Given the description of an element on the screen output the (x, y) to click on. 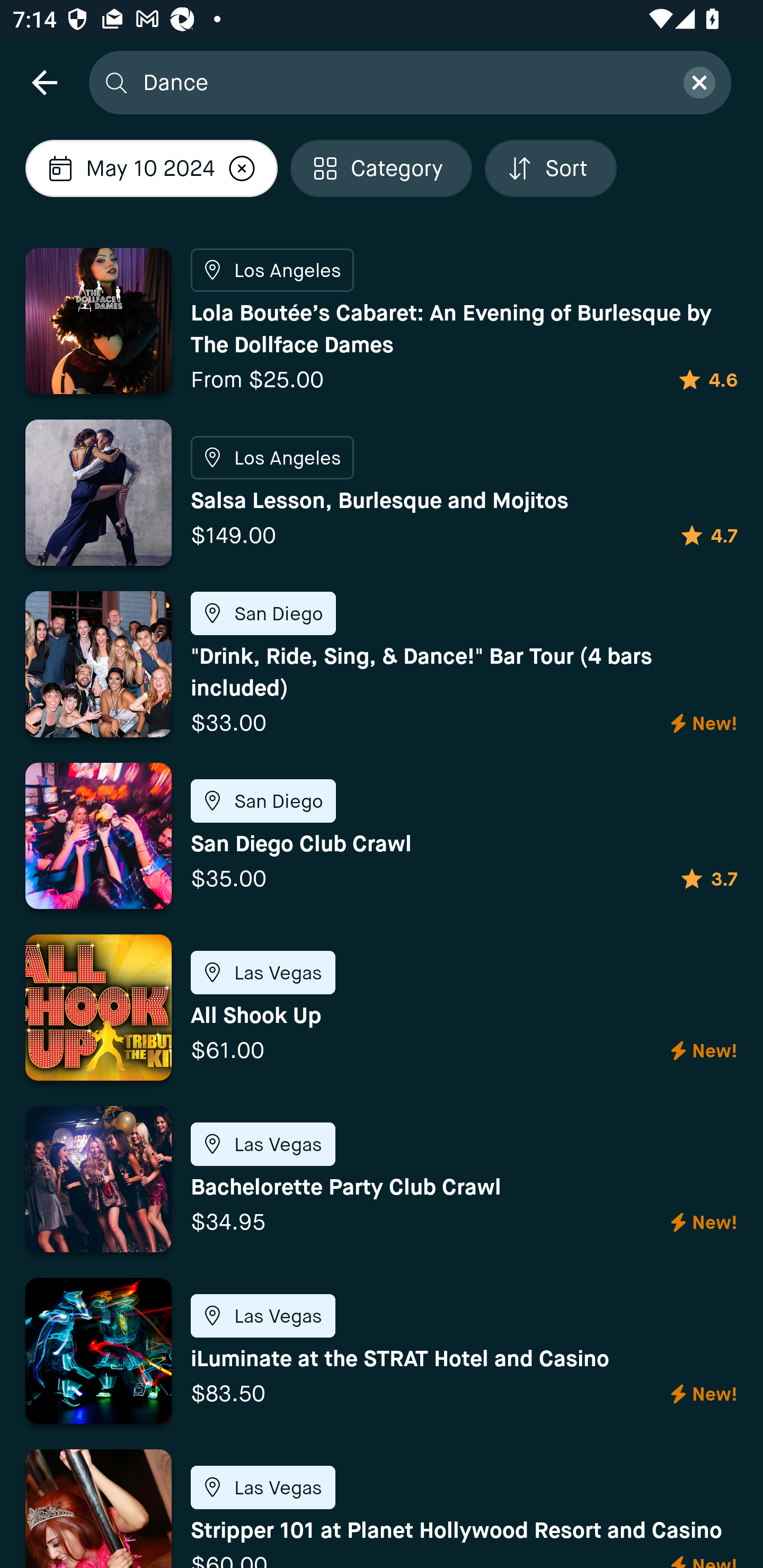
navigation icon (44, 81)
Dance (402, 81)
Localized description (241, 168)
Localized description Category (381, 168)
Localized description Sort (550, 168)
